Given the description of an element on the screen output the (x, y) to click on. 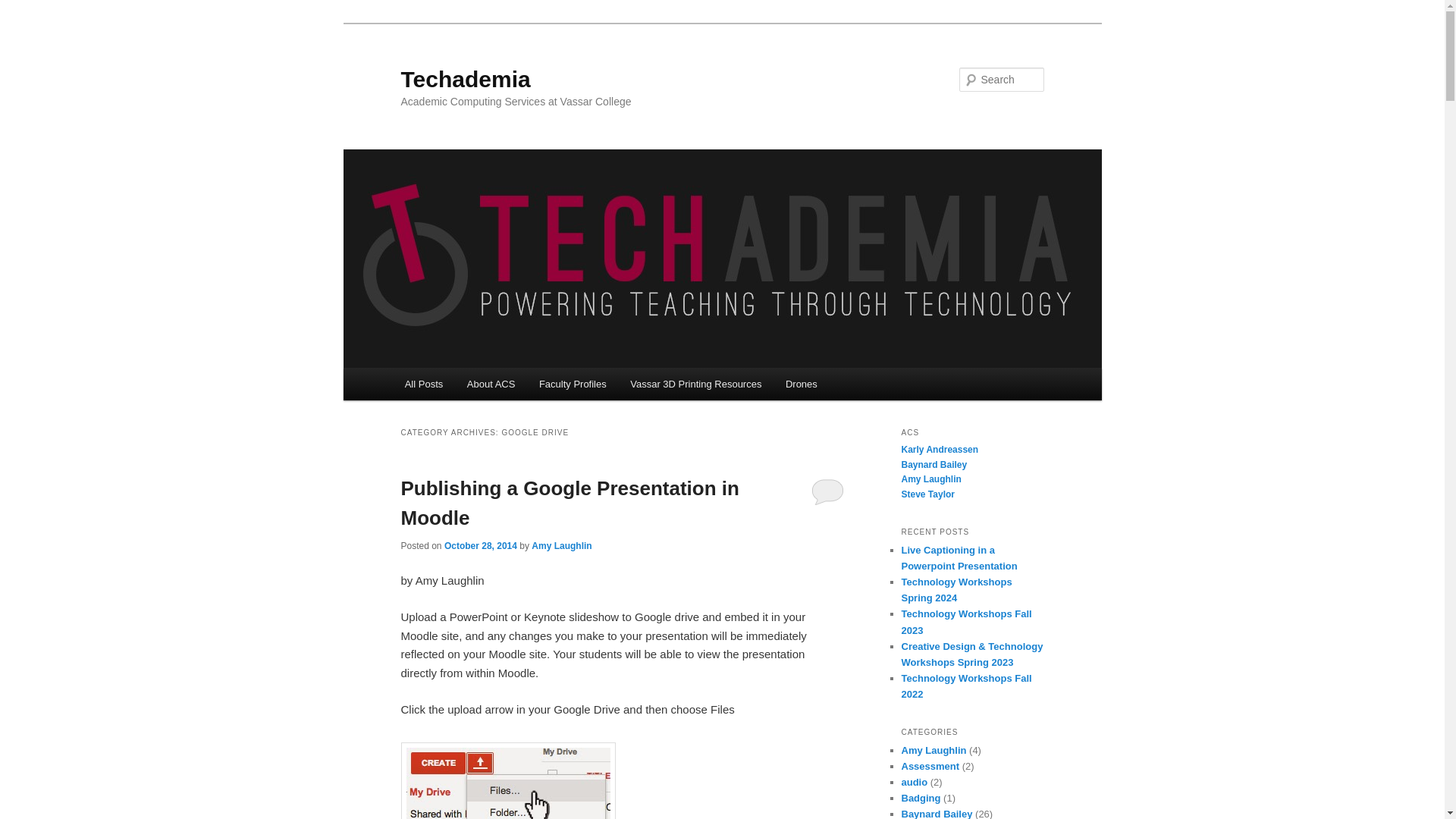
Techademia (464, 78)
Vassar 3D Printing Resources (696, 383)
October 28, 2014 (480, 545)
Search (24, 8)
Amy Laughlin (561, 545)
Drones (800, 383)
All Posts (423, 383)
View all posts by Amy Laughlin (561, 545)
Faculty Profiles (572, 383)
